Given the description of an element on the screen output the (x, y) to click on. 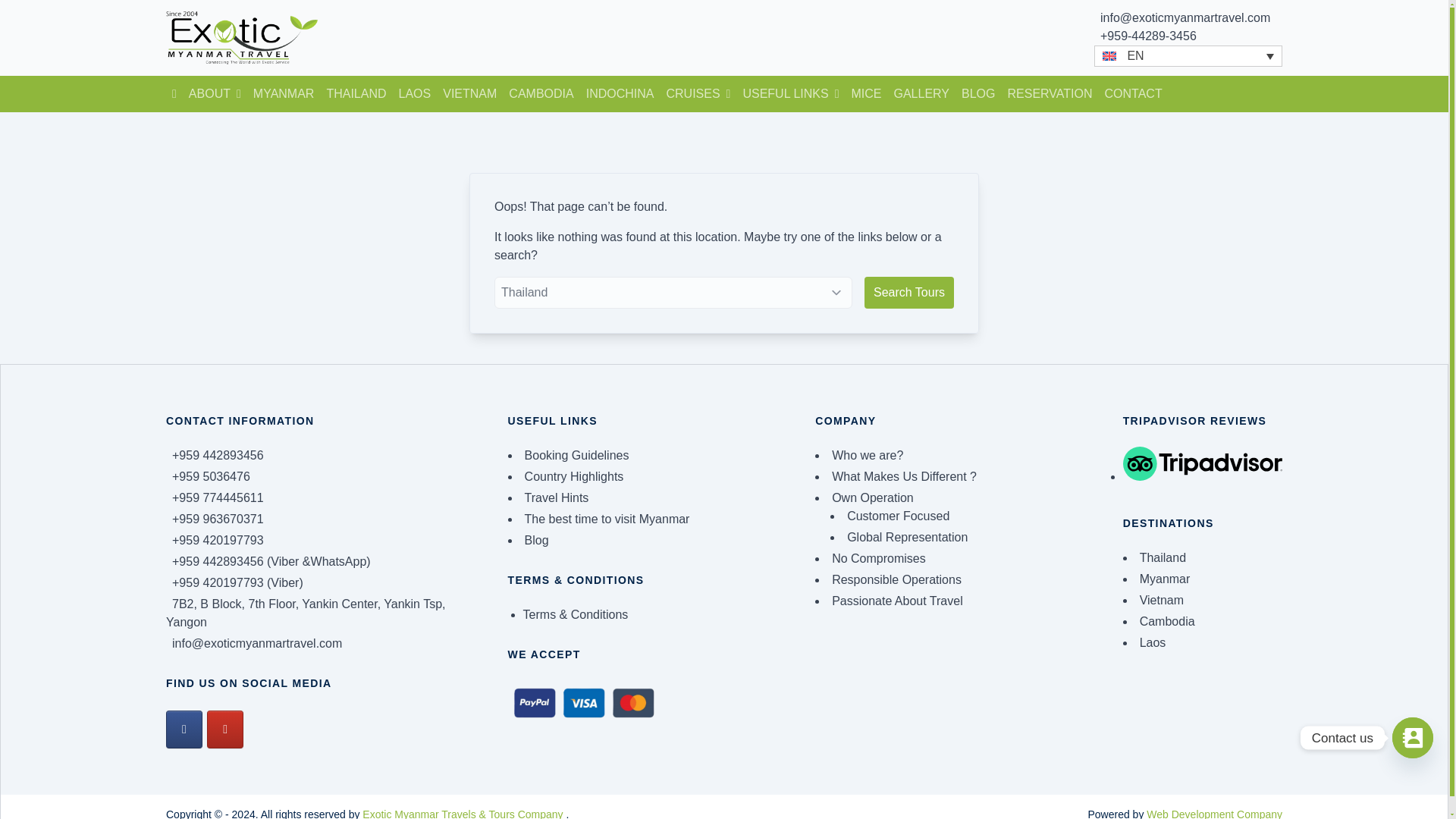
CRUISES (697, 94)
EN (1188, 55)
THAILAND (355, 94)
MICE (865, 94)
LAOS (415, 94)
INDOCHINA (620, 94)
Web Development Company (1214, 813)
USEFUL LINKS (790, 94)
CAMBODIA (540, 94)
VIETNAM (469, 94)
ABOUT (215, 94)
GALLERY (920, 94)
Search Tours (908, 292)
MYANMAR (283, 94)
BLOG (978, 94)
